Given the description of an element on the screen output the (x, y) to click on. 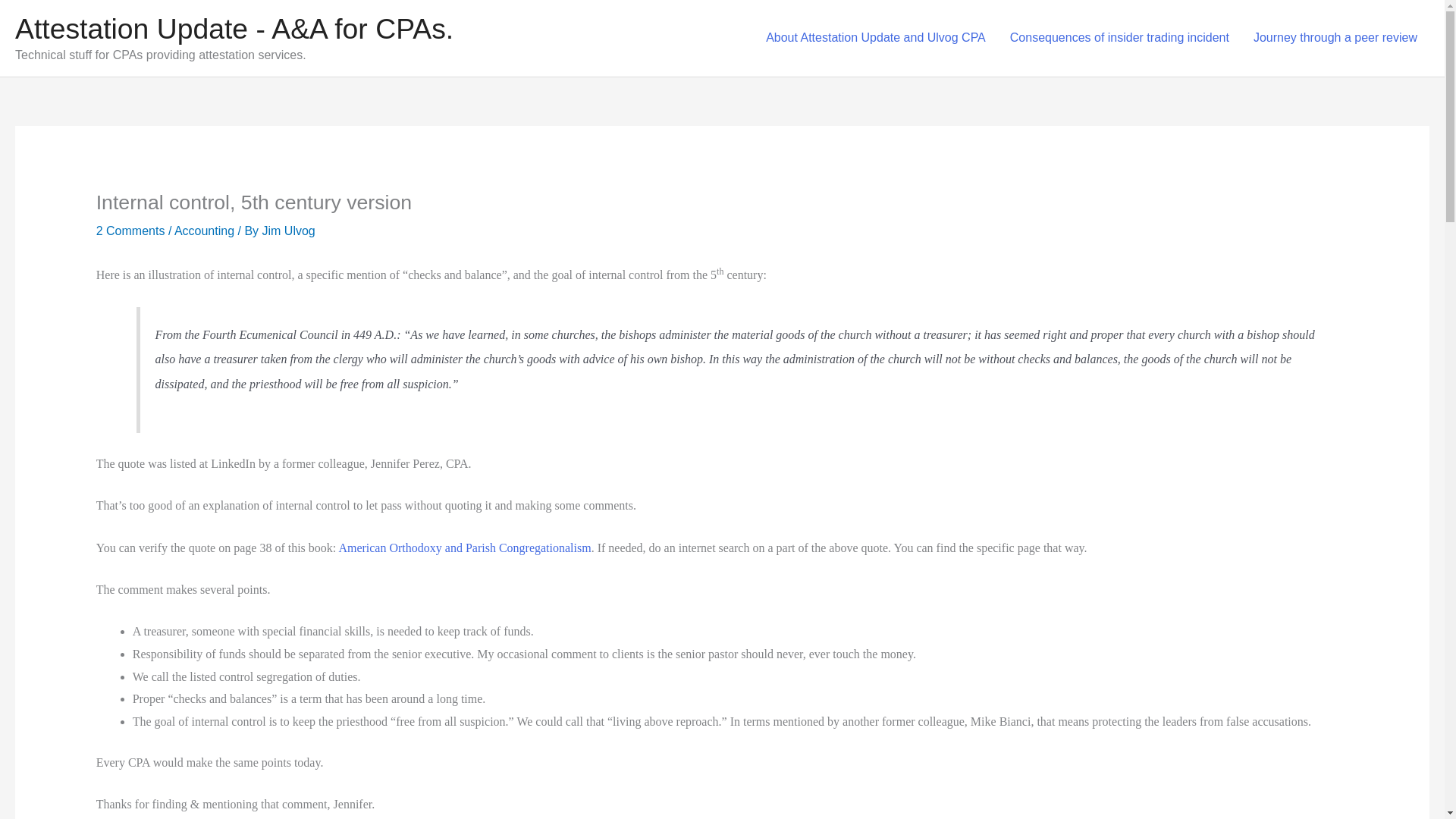
Consequences of insider trading incident (1119, 37)
About Attestation Update and Ulvog CPA (875, 37)
American Orthodoxy and Parish Congregationalism (464, 547)
2 Comments (130, 230)
Jim Ulvog (288, 230)
Accounting (204, 230)
Journey through a peer review (1335, 37)
View all posts by Jim Ulvog (288, 230)
